Given the description of an element on the screen output the (x, y) to click on. 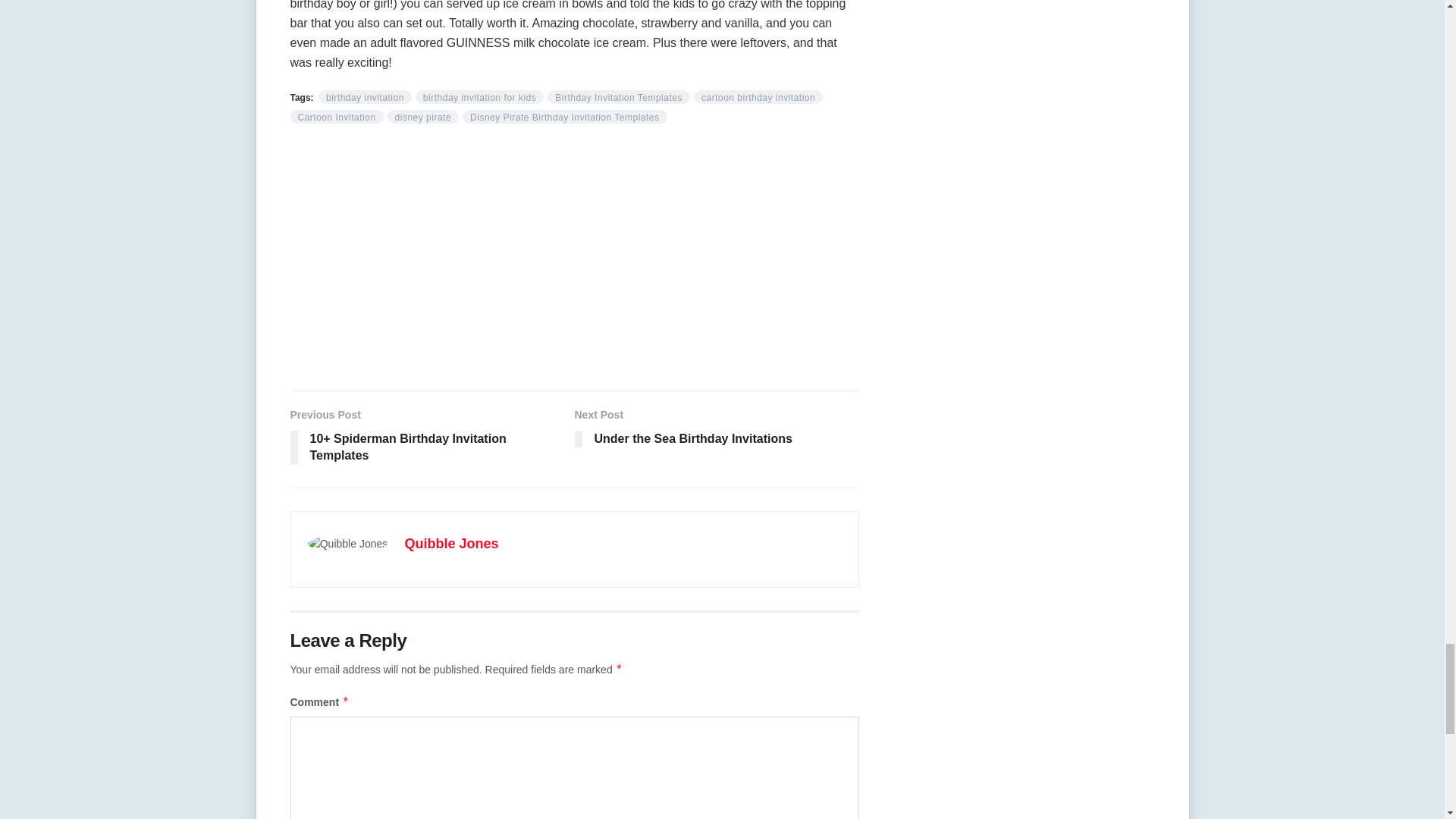
birthday invitation (365, 97)
birthday invitation for kids (478, 97)
